Given the description of an element on the screen output the (x, y) to click on. 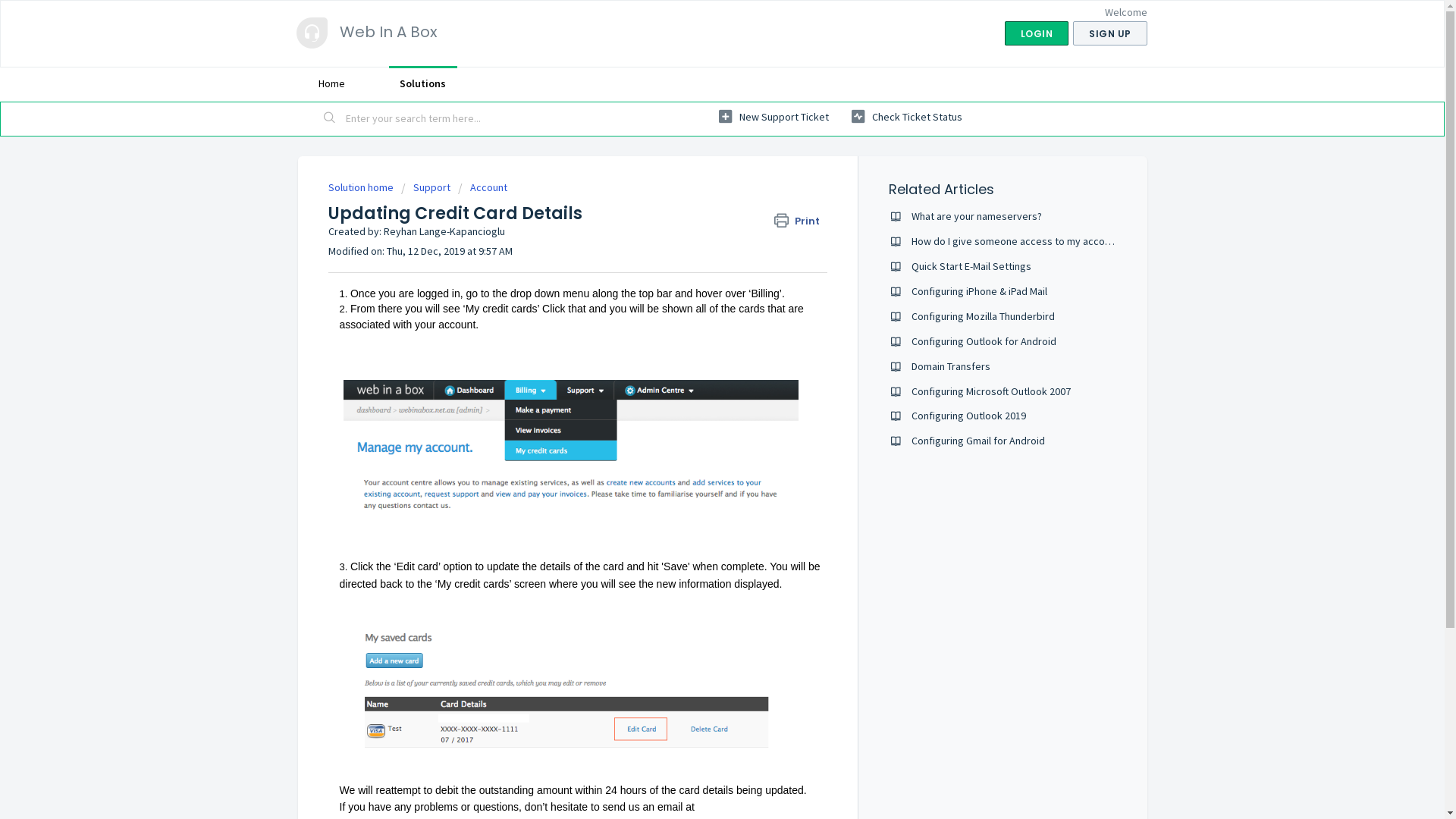
Solutions Element type: text (422, 83)
Configuring Microsoft Outlook 2007 Element type: text (990, 391)
Support Element type: text (424, 187)
What are your nameservers? Element type: text (976, 215)
Quick Start E-Mail Settings Element type: text (971, 266)
Print Element type: text (800, 221)
Account Element type: text (482, 187)
Check Ticket Status Element type: text (905, 116)
Solution home Element type: text (361, 187)
Configuring Outlook for Android Element type: text (983, 341)
New Support Ticket Element type: text (773, 116)
LOGIN Element type: text (1036, 33)
Configuring iPhone & iPad Mail Element type: text (979, 291)
Home Element type: text (331, 83)
Configuring Outlook 2019 Element type: text (968, 415)
Domain Transfers Element type: text (950, 366)
SIGN UP Element type: text (1110, 33)
How do I give someone access to my account? Element type: text (1017, 240)
Configuring Mozilla Thunderbird Element type: text (982, 316)
Configuring Gmail for Android Element type: text (977, 440)
